Given the description of an element on the screen output the (x, y) to click on. 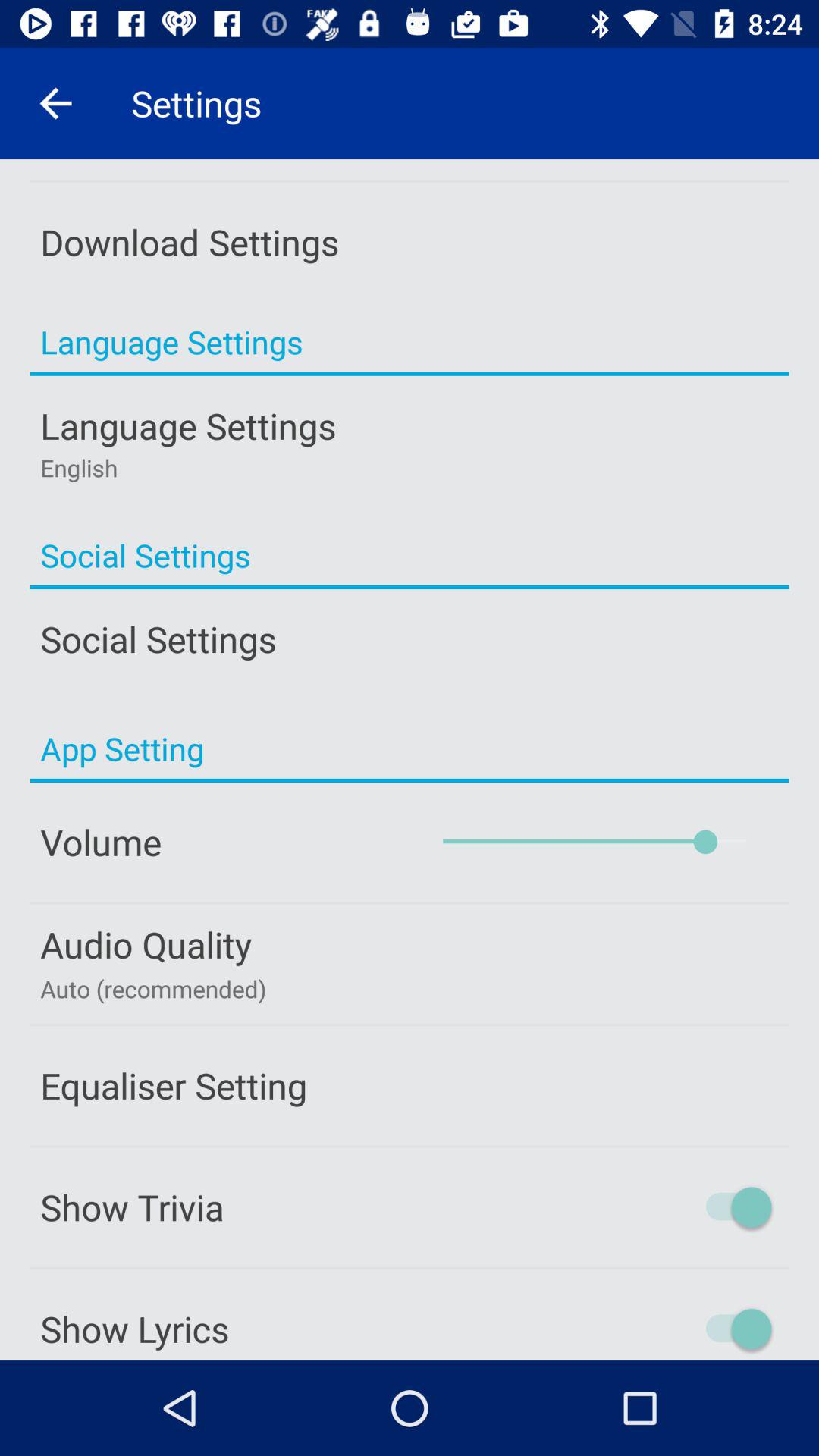
toggles trivia information shown (673, 1207)
